Given the description of an element on the screen output the (x, y) to click on. 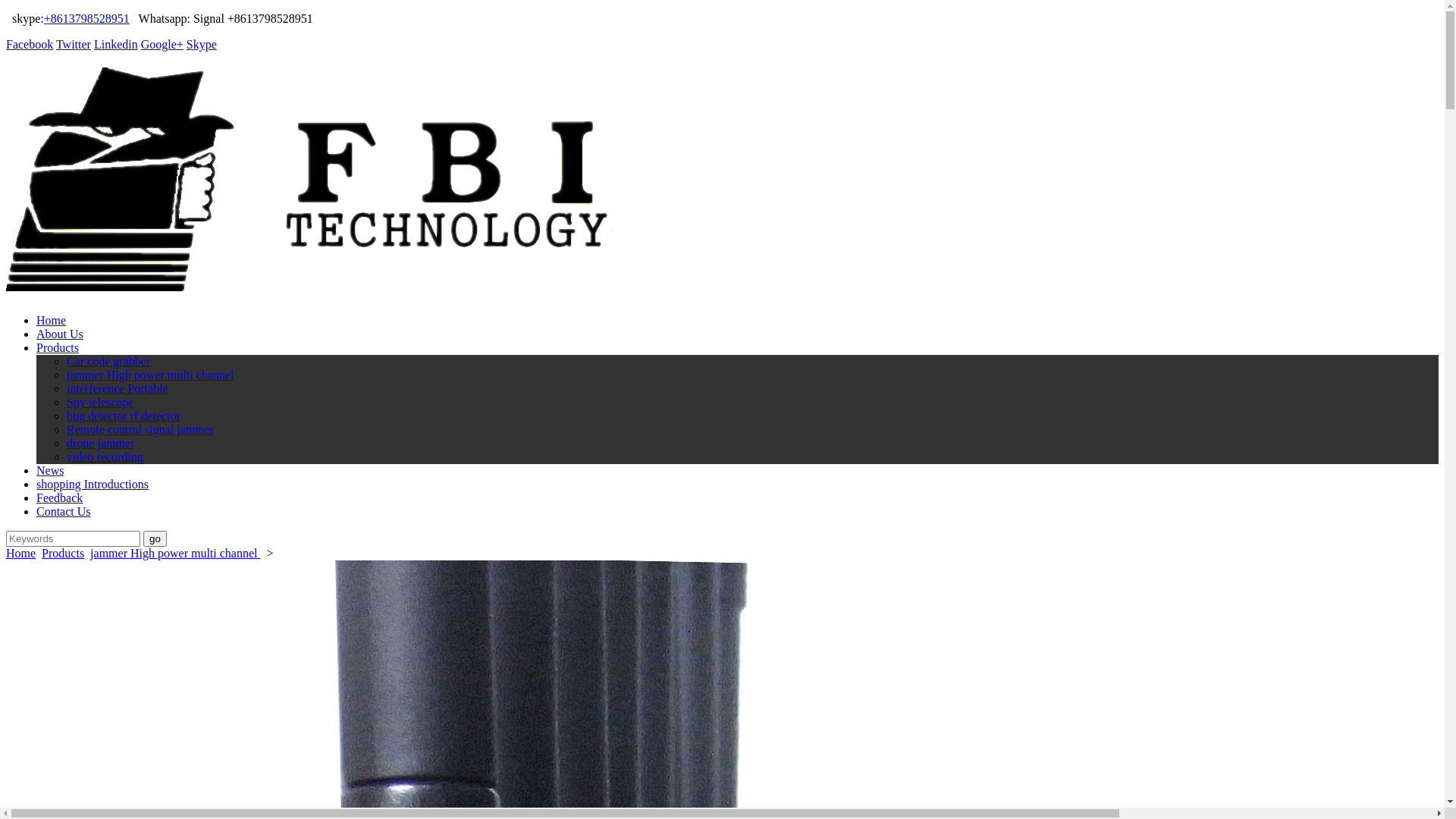
go Element type: text (154, 538)
Twitter Element type: text (73, 43)
go Element type: hover (154, 538)
bug detector rf detector Element type: text (123, 415)
Skype Element type: text (201, 43)
jammer High power multi channel Element type: text (149, 374)
Products Element type: text (62, 552)
Feedback Element type: text (59, 497)
Car code grabber Element type: text (108, 360)
Home Element type: text (20, 552)
About Us Element type: text (59, 333)
Remote control signal jammer Element type: text (139, 429)
Home Element type: text (50, 319)
drone jammer Element type: text (100, 442)
Facebook Element type: text (29, 43)
shopping Introductions Element type: text (92, 483)
Spy telescope Element type: text (99, 401)
Contact Us Element type: text (63, 511)
interference Portable Element type: text (117, 388)
video recording Element type: text (104, 456)
Products Element type: text (57, 347)
Google+ Element type: text (162, 43)
jammer High power multi channel Element type: text (175, 552)
Linkedin Element type: text (116, 43)
News Element type: text (49, 470)
+8613798528951 Element type: text (86, 18)
